Given the description of an element on the screen output the (x, y) to click on. 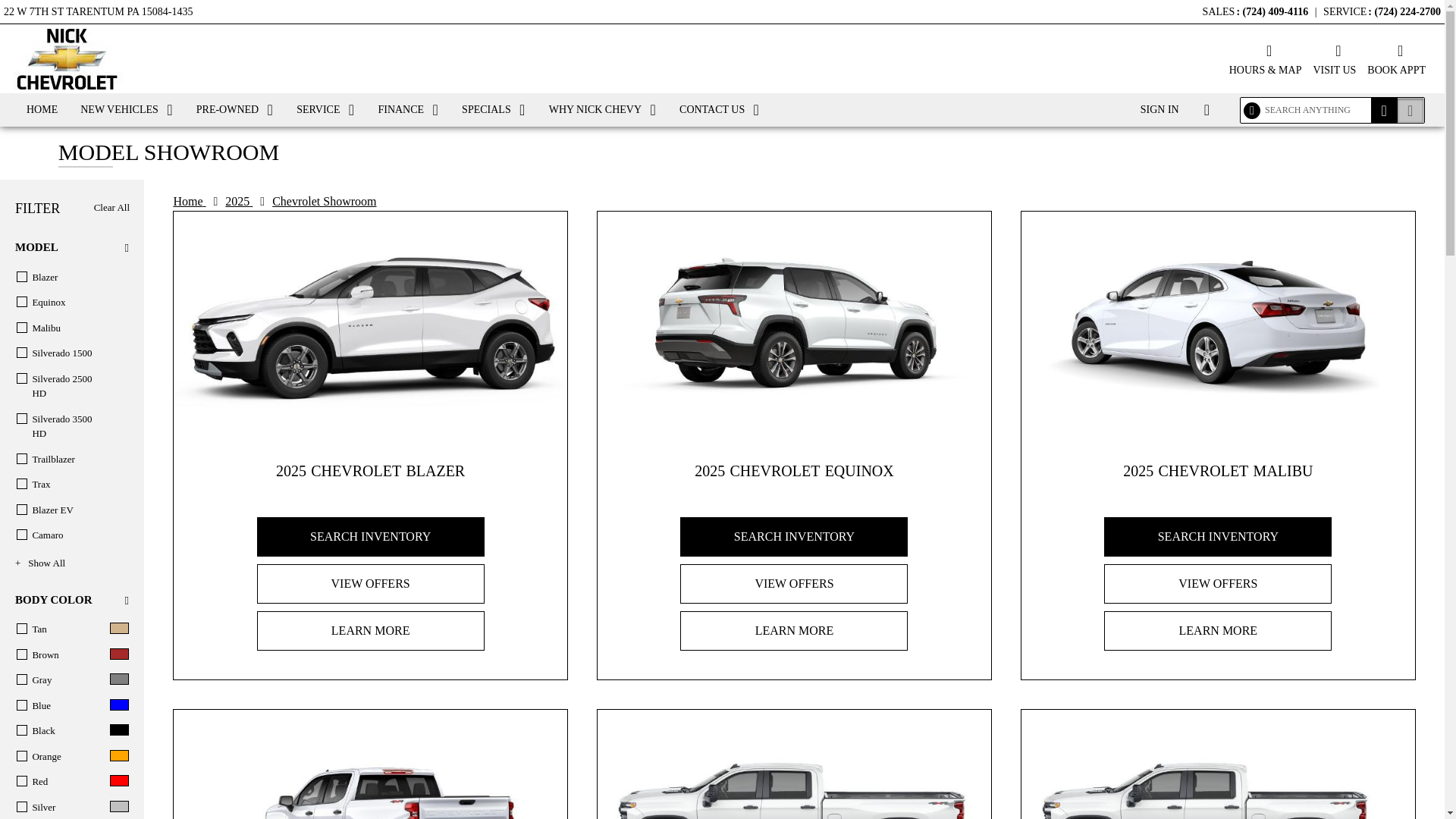
VISIT US (1334, 58)
Search Anything (1384, 109)
Skip to Main Content (52, 9)
Search Inventory (1410, 109)
BOOK APPT (1396, 58)
Visit Nick Chevrolet (1334, 58)
22 W 7TH ST TARENTUM PA 15084-1435 (98, 9)
Search Inventory (370, 536)
View Offers (370, 583)
HOME (41, 109)
